Given the description of an element on the screen output the (x, y) to click on. 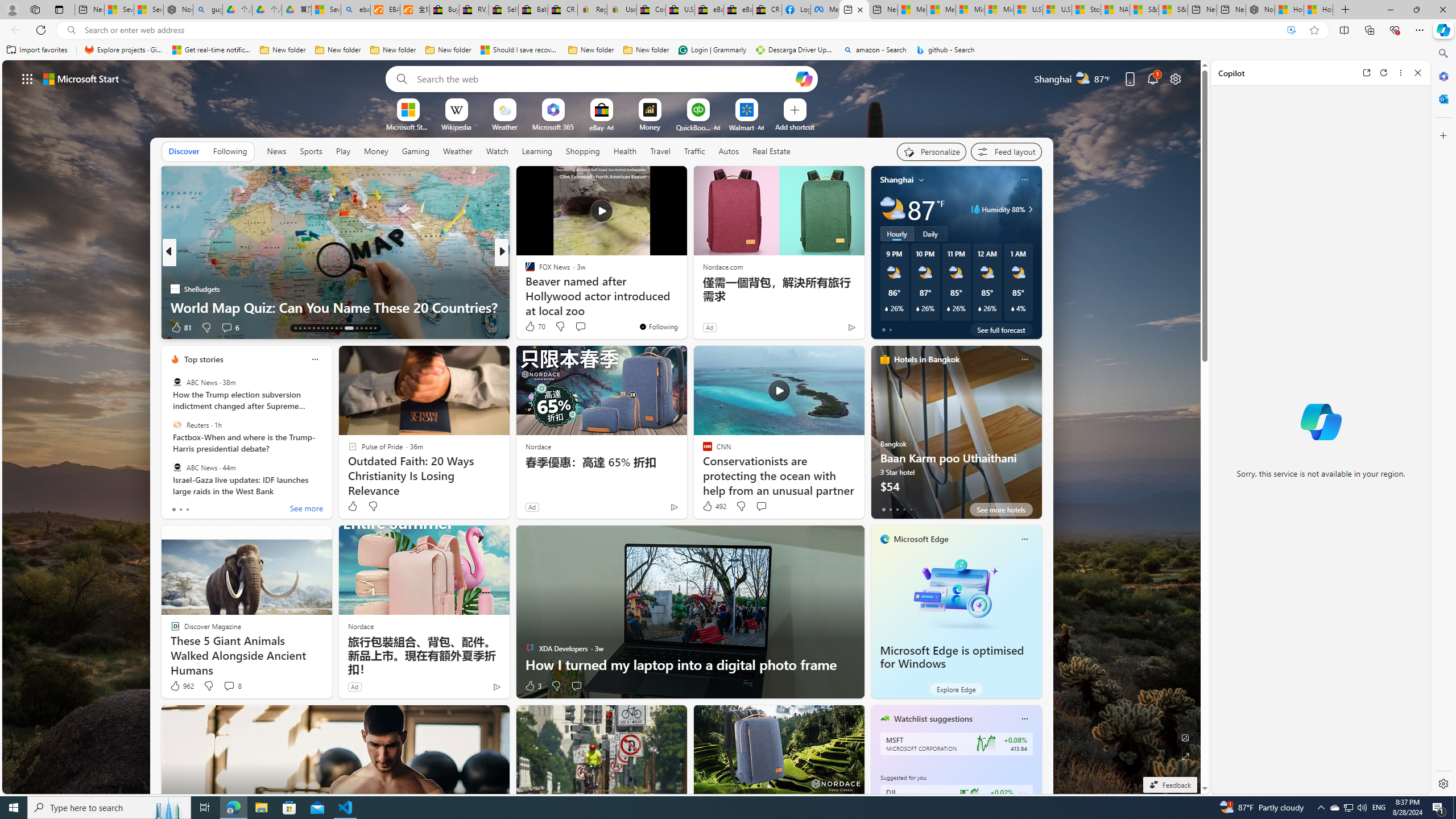
AutomationID: tab-33 (366, 328)
My location (921, 179)
AutomationID: tab-35 (374, 328)
Enter your search term (603, 78)
Shanghai (896, 179)
View comments 8 Comment (228, 685)
Following (229, 151)
AutomationID: tab-23 (340, 328)
Humidity 88% (1028, 208)
BRAINY DOSE (524, 270)
Dislike (556, 685)
